Given the description of an element on the screen output the (x, y) to click on. 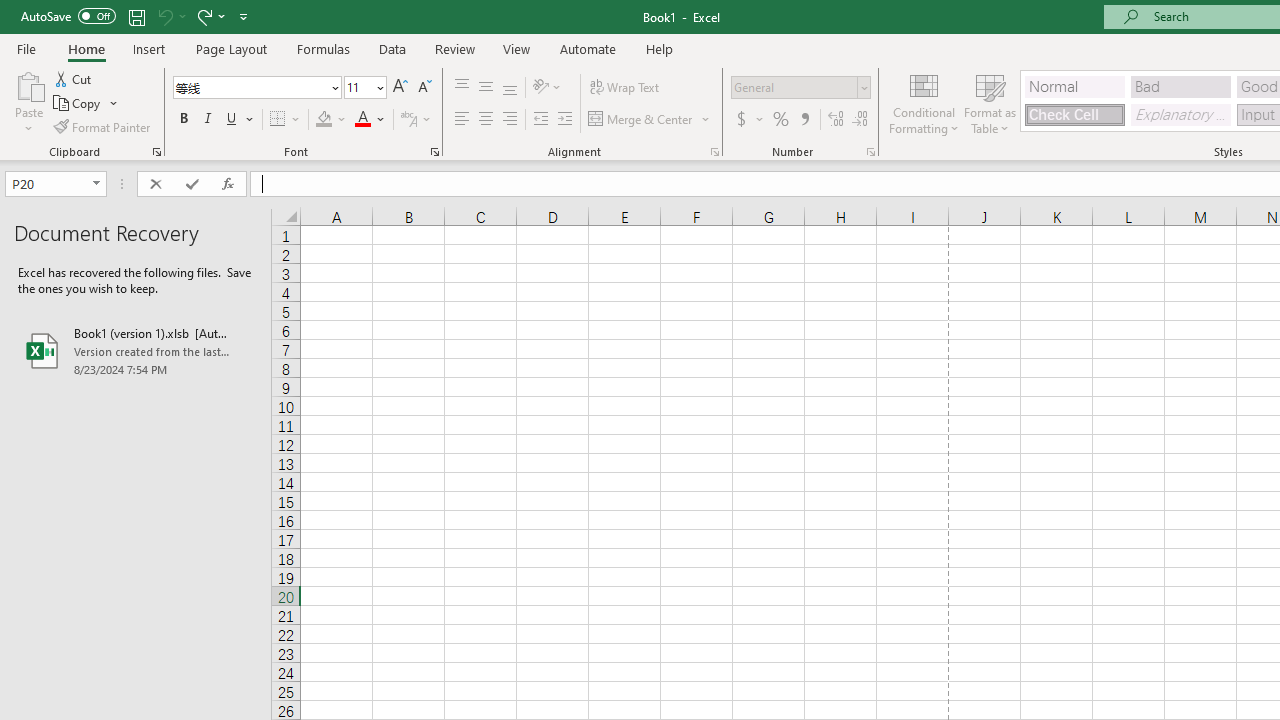
Borders (285, 119)
Increase Decimal (836, 119)
Bottom Border (278, 119)
Percent Style (781, 119)
Merge & Center (649, 119)
Conditional Formatting (924, 102)
AutoSave (68, 16)
Italic (207, 119)
Increase Indent (565, 119)
Font (256, 87)
Copy (85, 103)
Formulas (323, 48)
